Given the description of an element on the screen output the (x, y) to click on. 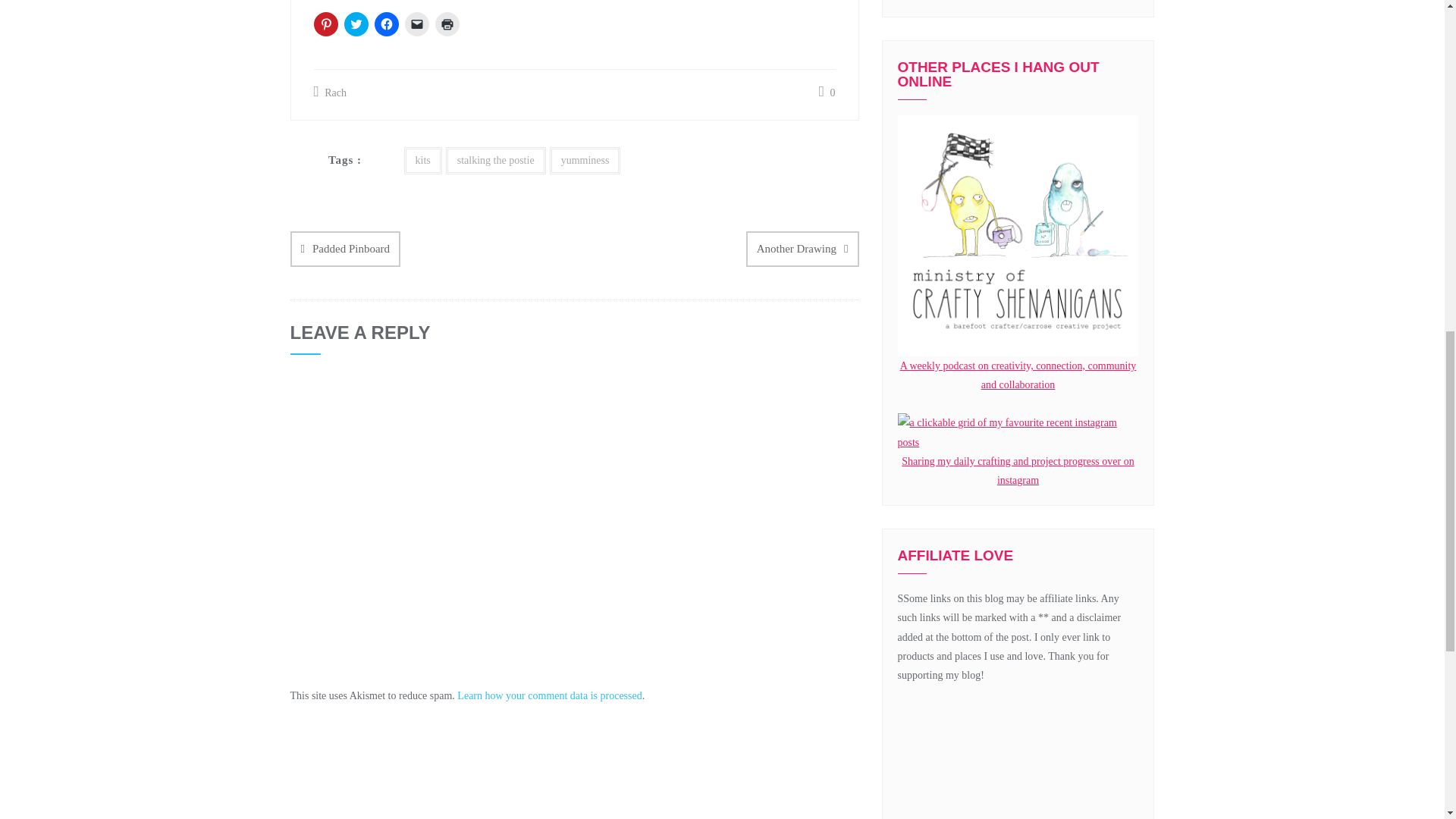
Padded Pinboard (344, 248)
yumminess (585, 160)
stalking the postie (495, 160)
Click to email a link to a friend (416, 24)
Rach (330, 92)
Click to print (447, 24)
Click to share on Pinterest (325, 24)
kits (422, 160)
Learn how your comment data is processed (549, 695)
Click to share on Facebook (386, 24)
